Given the description of an element on the screen output the (x, y) to click on. 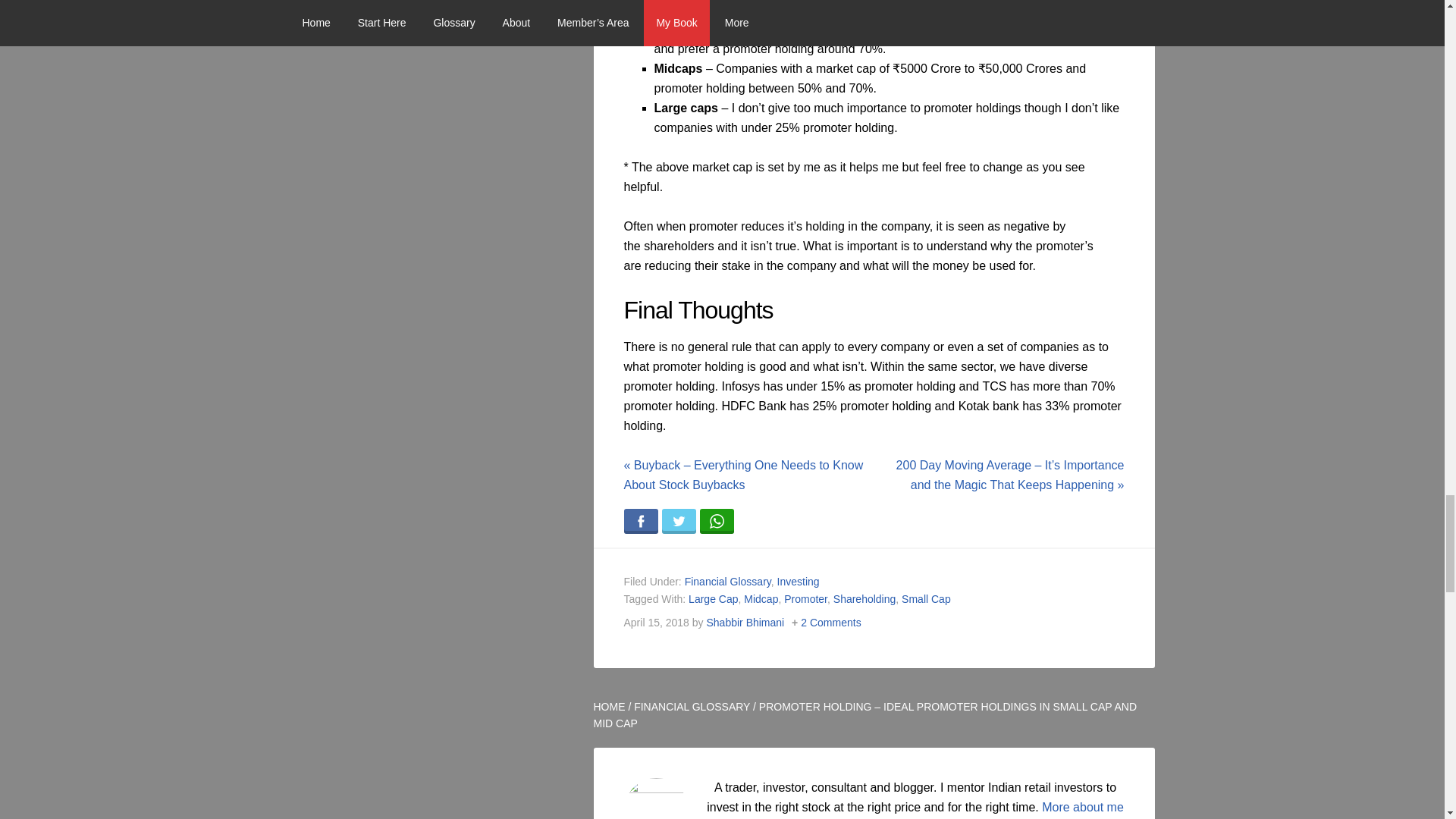
Promoter (805, 598)
Midcap (760, 598)
Financial Glossary (727, 581)
Large Cap (713, 598)
Shabbir Bhimani (745, 622)
Investing (798, 581)
Small Cap (925, 598)
Shareholding (864, 598)
